Given the description of an element on the screen output the (x, y) to click on. 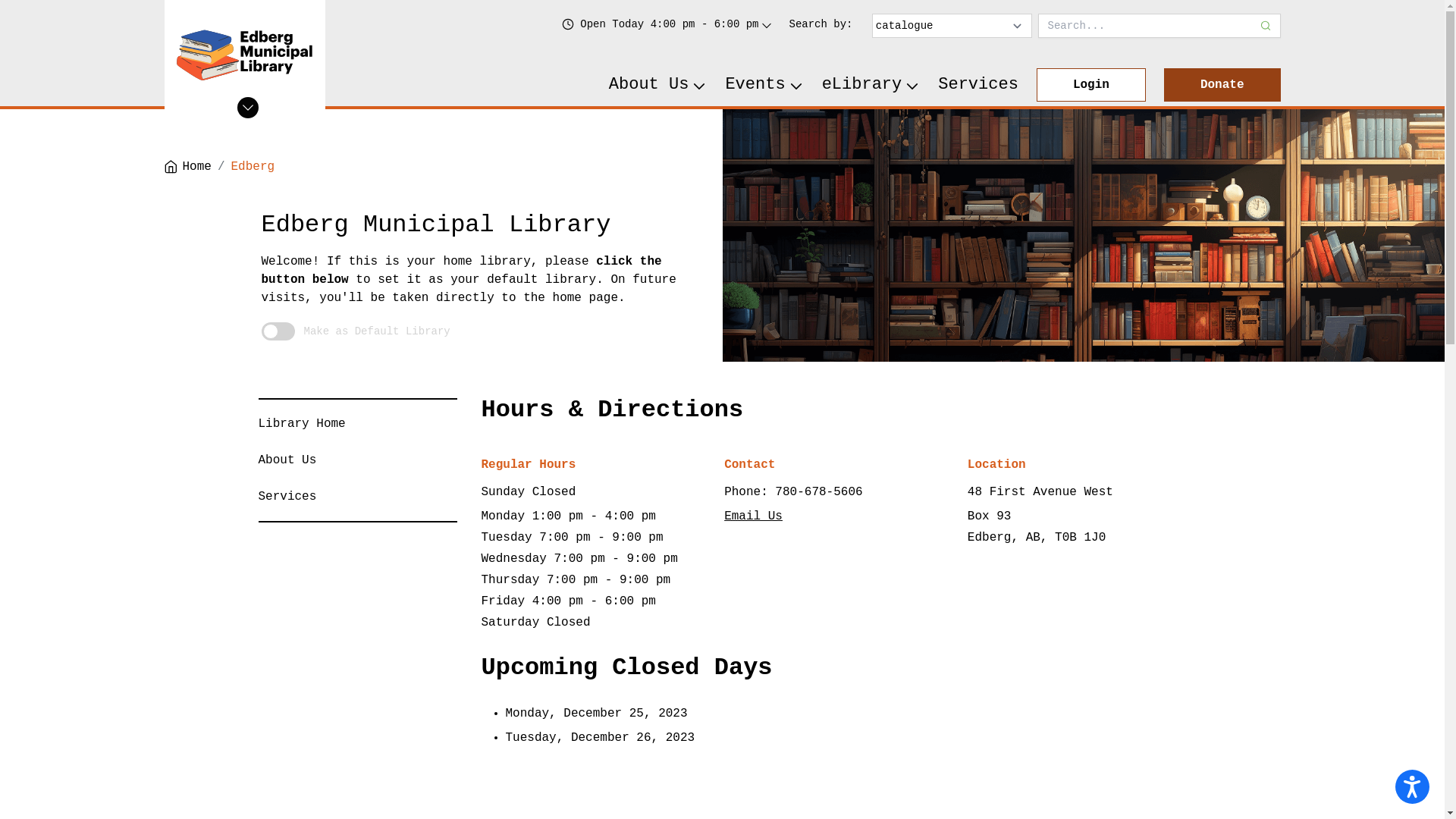
Services Element type: text (286, 496)
Email Us Element type: text (753, 516)
About Us Element type: text (657, 84)
Login Element type: text (1090, 84)
Events Element type: text (763, 84)
Donate Element type: text (1222, 84)
Edberg Element type: text (253, 166)
Home Element type: text (186, 166)
eLibrary Element type: text (871, 84)
Library Home Element type: text (301, 423)
About Us Element type: text (286, 460)
Services Element type: text (978, 84)
